Given the description of an element on the screen output the (x, y) to click on. 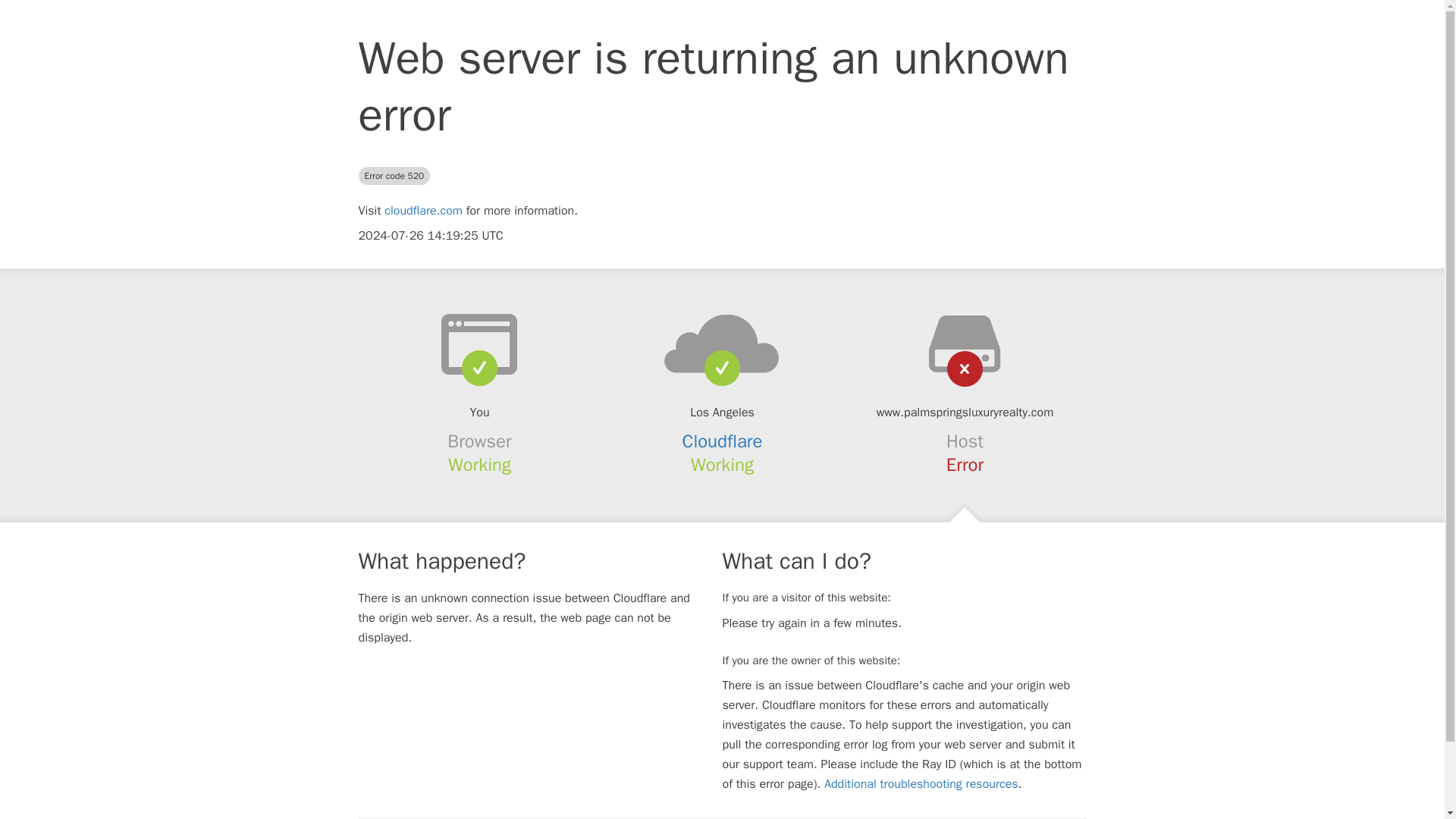
cloudflare.com (423, 210)
Cloudflare (722, 440)
Additional troubleshooting resources (920, 783)
